Given the description of an element on the screen output the (x, y) to click on. 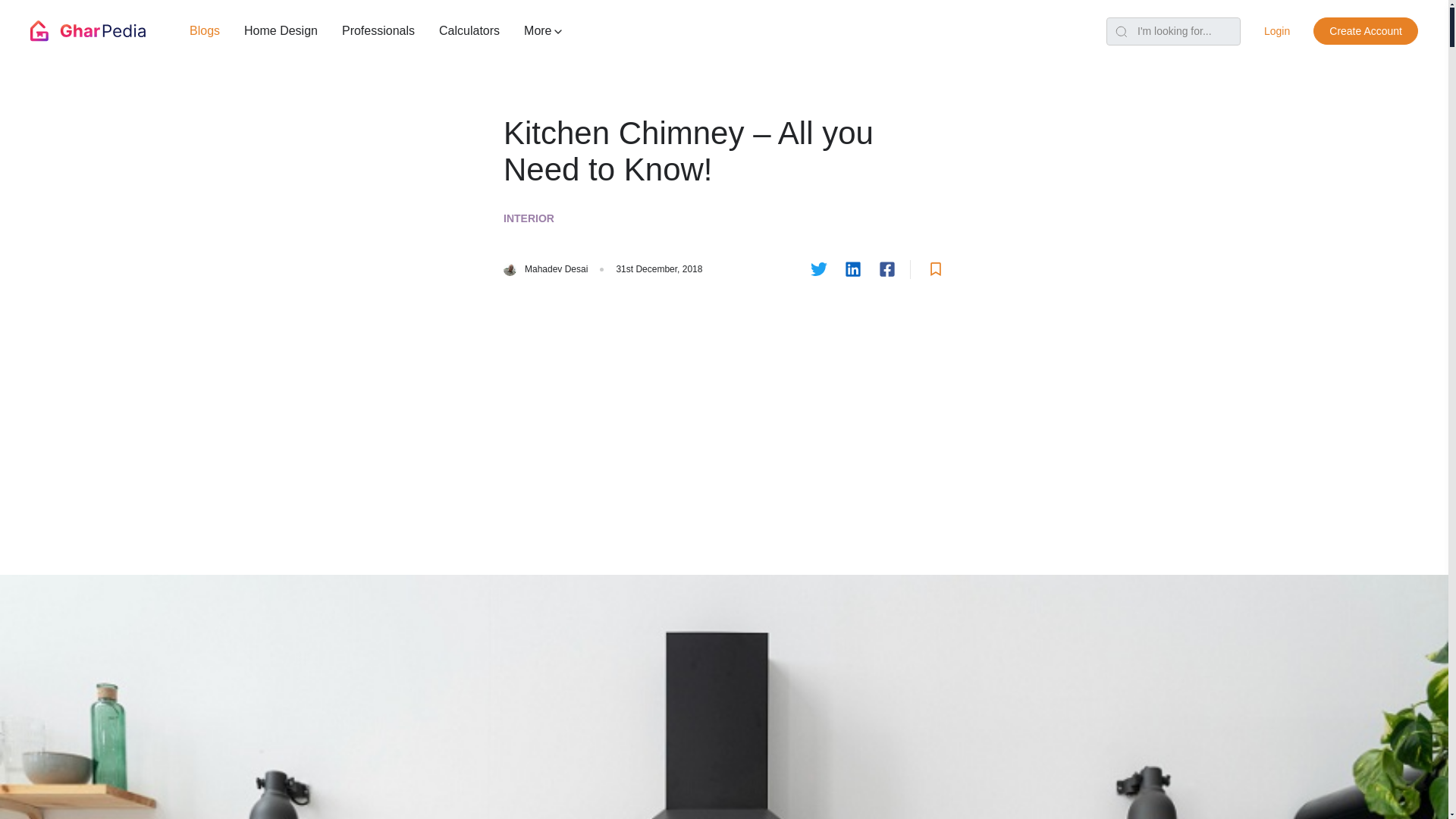
Blogs (204, 30)
Home Design (280, 30)
Facebook (887, 269)
